Given the description of an element on the screen output the (x, y) to click on. 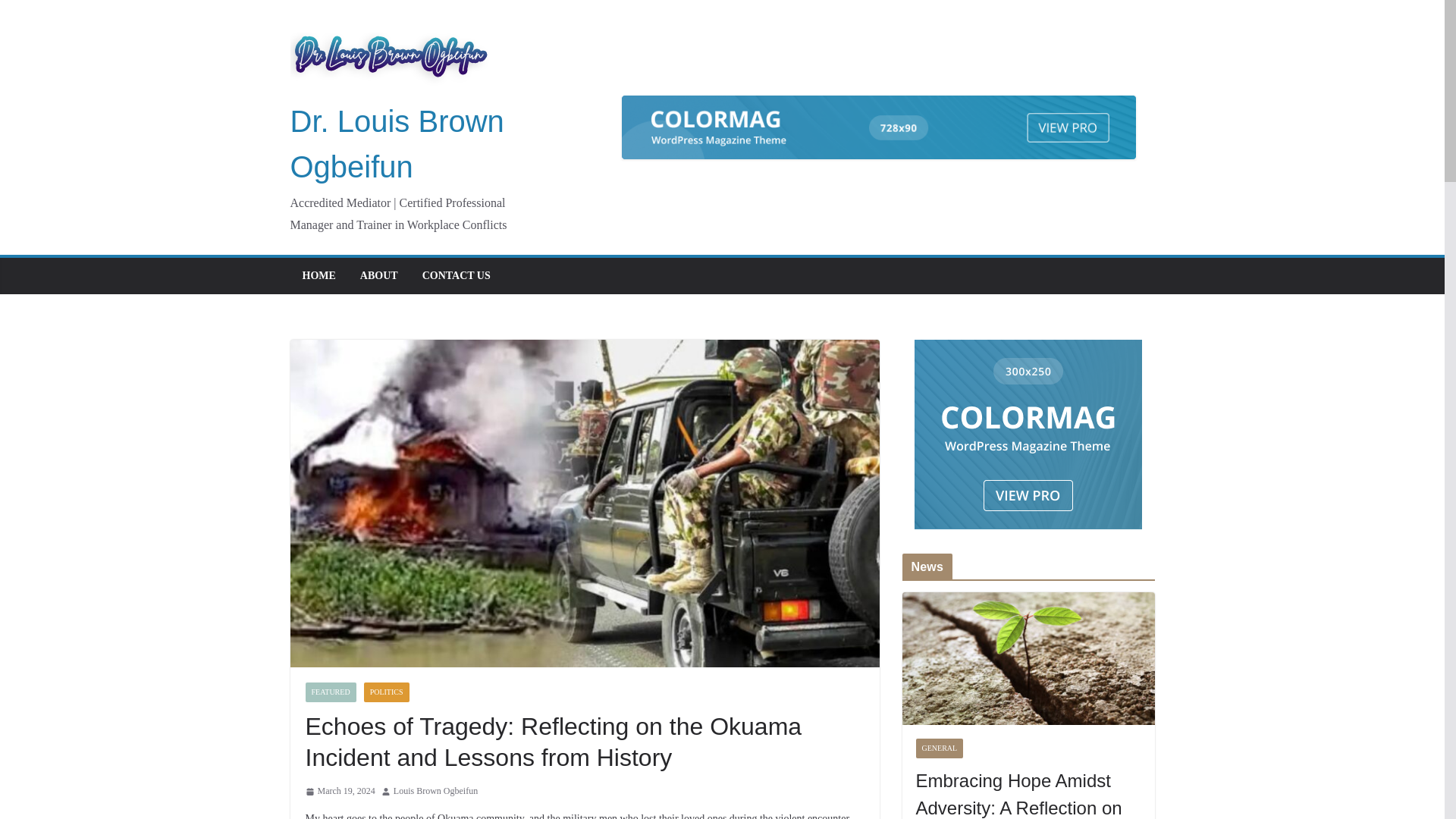
March 19, 2024 (339, 791)
Louis Brown Ogbeifun (435, 791)
GENERAL (939, 748)
Dr. Louis Brown Ogbeifun (396, 143)
12:55 pm (339, 791)
Louis Brown Ogbeifun (435, 791)
ABOUT (378, 275)
FEATURED (329, 691)
HOME (317, 275)
CONTACT US (456, 275)
